Given the description of an element on the screen output the (x, y) to click on. 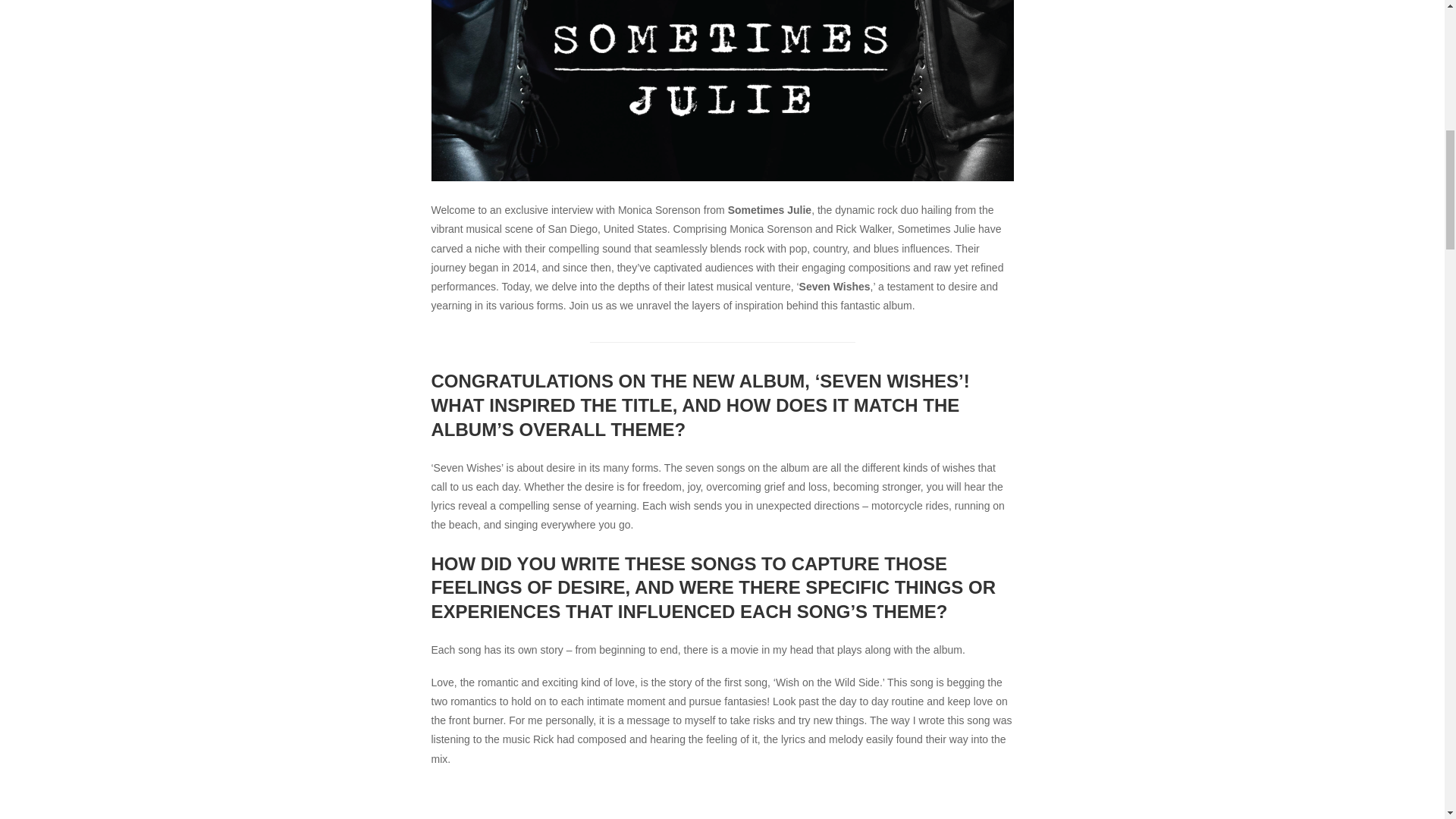
Spotify Embed: Wish on the Wild Side (721, 803)
